Given the description of an element on the screen output the (x, y) to click on. 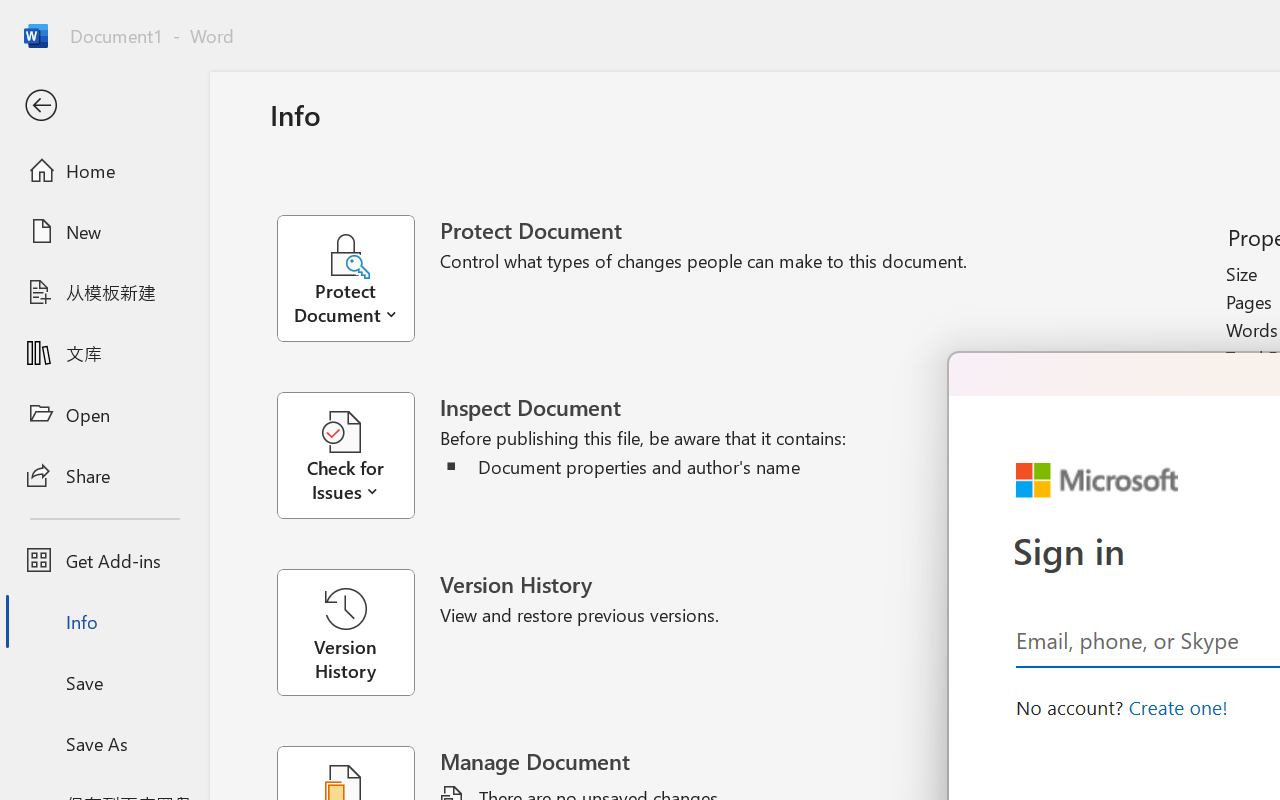
New (104, 231)
Get Add-ins (104, 560)
Version History (345, 632)
Back (104, 106)
Save As (104, 743)
Check for Issues (358, 455)
Info (104, 621)
Protect Document (358, 278)
